Given the description of an element on the screen output the (x, y) to click on. 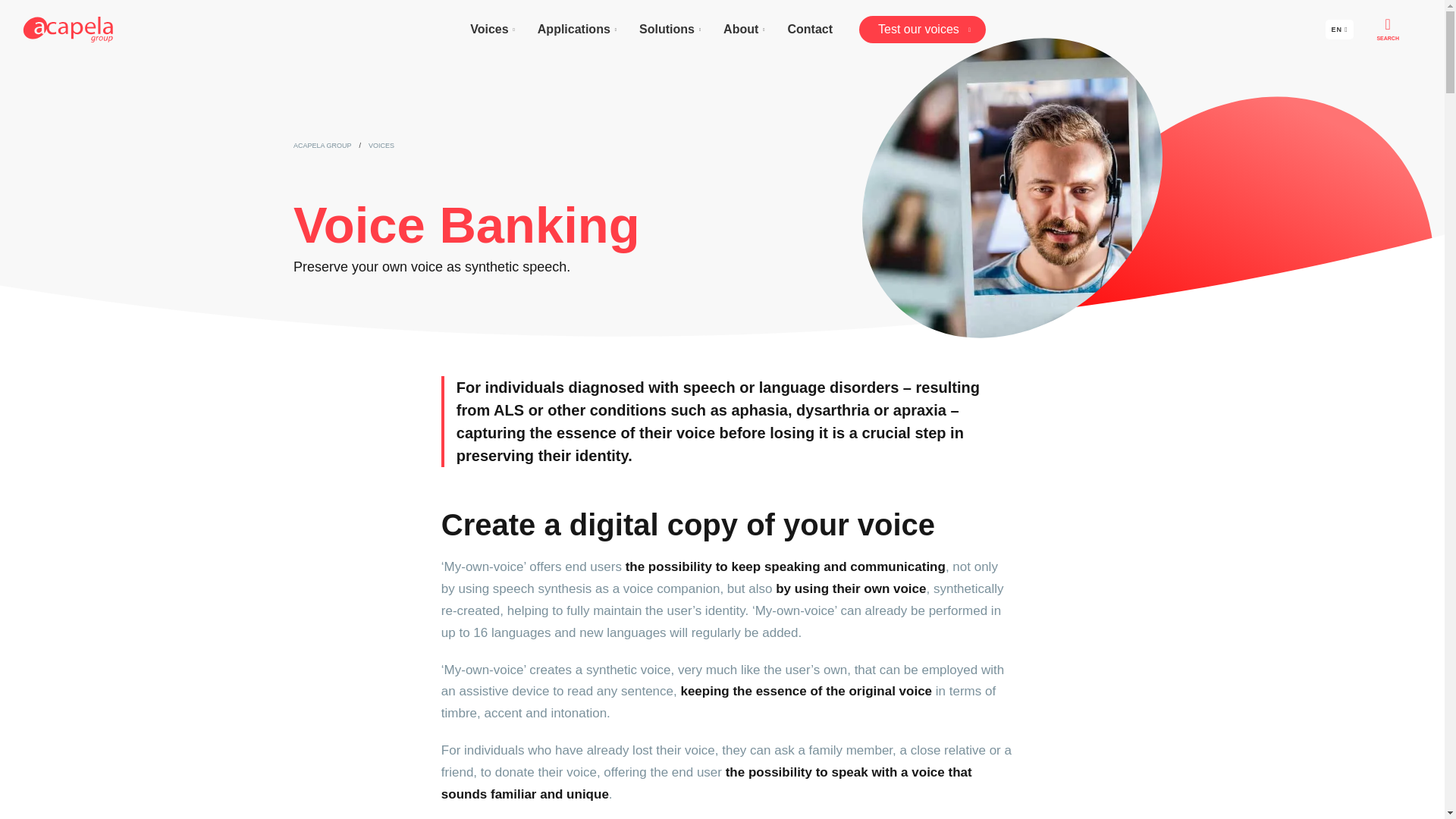
Applications (576, 29)
Voices (491, 29)
Solutions (669, 29)
